Given the description of an element on the screen output the (x, y) to click on. 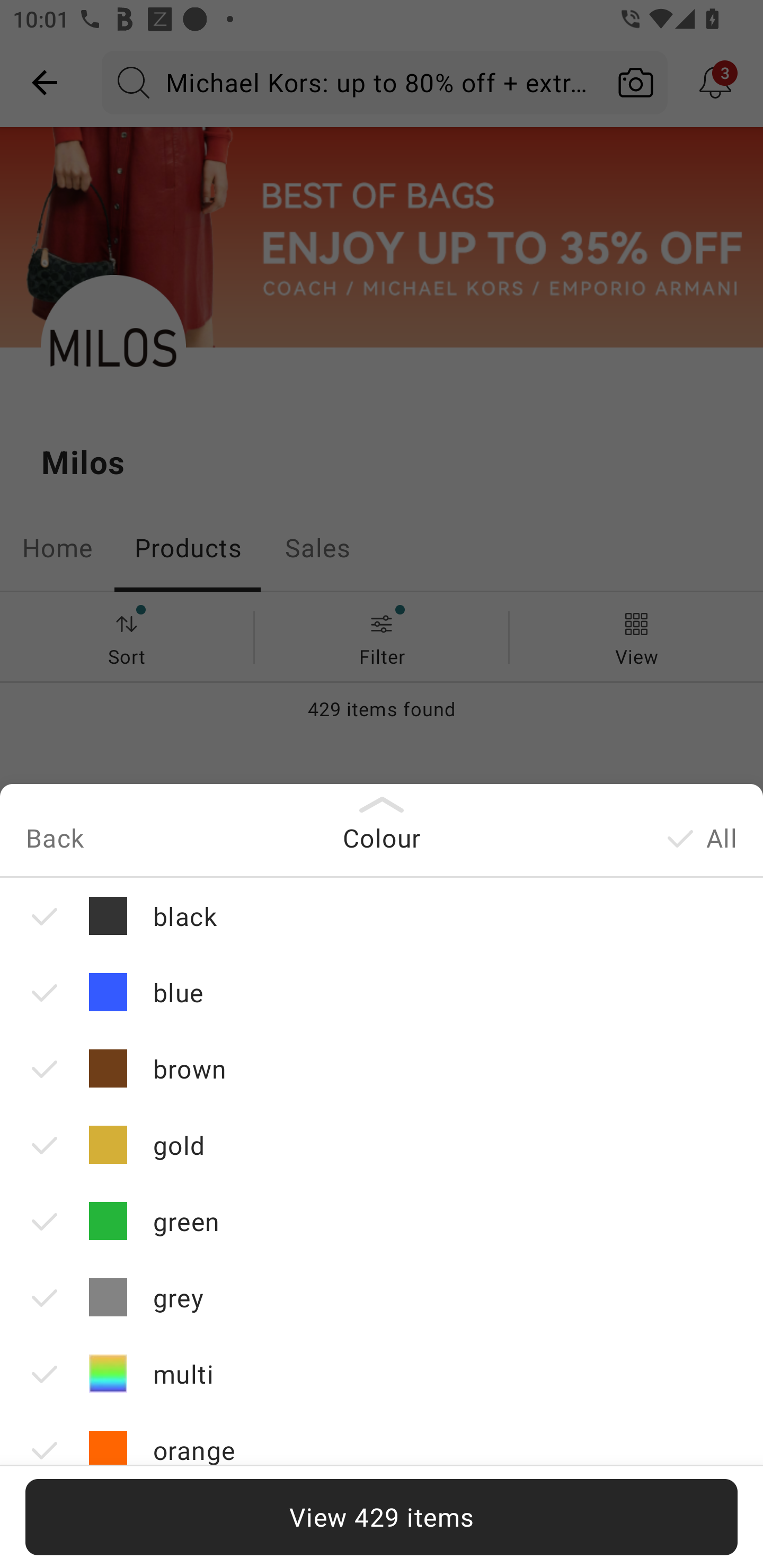
Back (54, 839)
All (699, 840)
black (381, 915)
blue (381, 991)
brown (381, 1068)
gold (381, 1144)
green (381, 1220)
grey (381, 1297)
multi (381, 1373)
orange (381, 1449)
View 429 items (381, 1516)
